Given the description of an element on the screen output the (x, y) to click on. 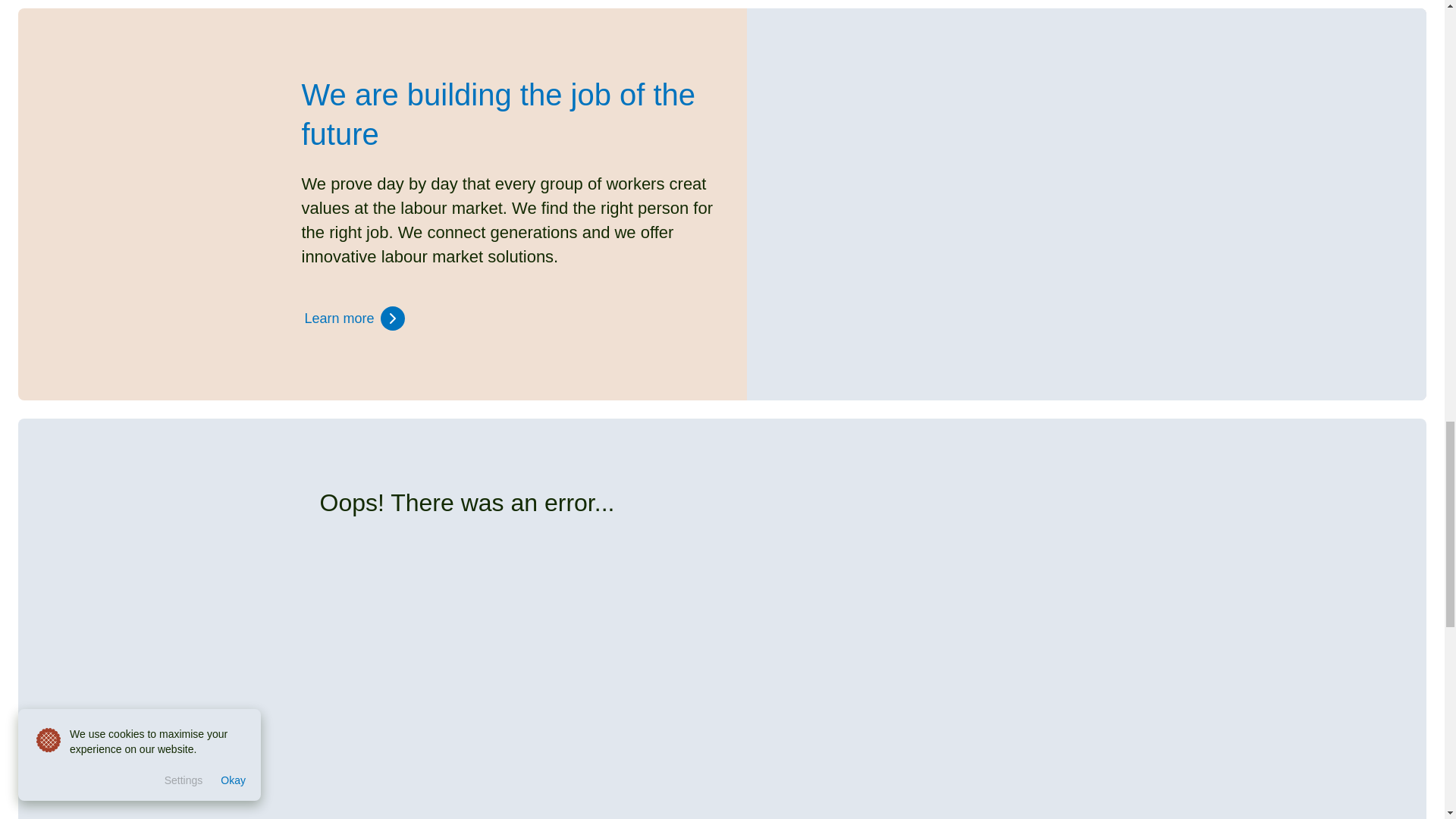
Learn more (354, 318)
